Given the description of an element on the screen output the (x, y) to click on. 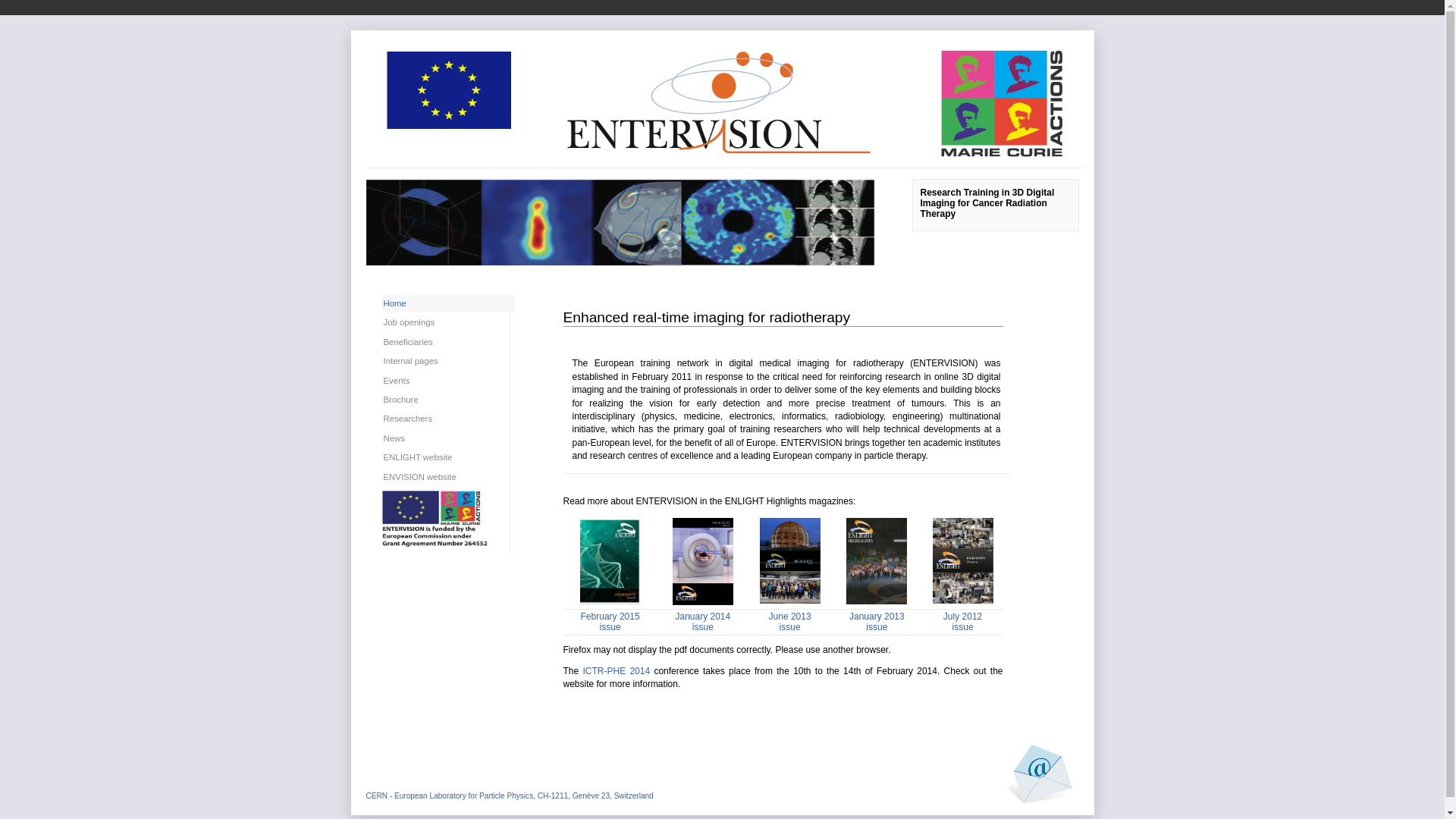
cern.ch Element type: hover (118, 7)
January 2013 issue Element type: text (876, 621)
Beneficiaries Element type: text (444, 341)
Brochure Element type: text (444, 399)
Job openings Element type: text (444, 321)
ENVISION website Element type: text (444, 476)
January 2014 issue Element type: text (702, 621)
News Element type: text (444, 437)
ENLIGHT website Element type: text (444, 456)
February 2015 issue Element type: text (610, 621)
ICTR-PHE 2014 Element type: text (615, 670)
Events Element type: text (444, 380)
Researchers Element type: text (444, 418)
July 2012 issue Element type: text (962, 621)
Internal pages Element type: text (444, 360)
June 2013 issue Element type: text (789, 621)
Home Element type: text (447, 302)
